Given the description of an element on the screen output the (x, y) to click on. 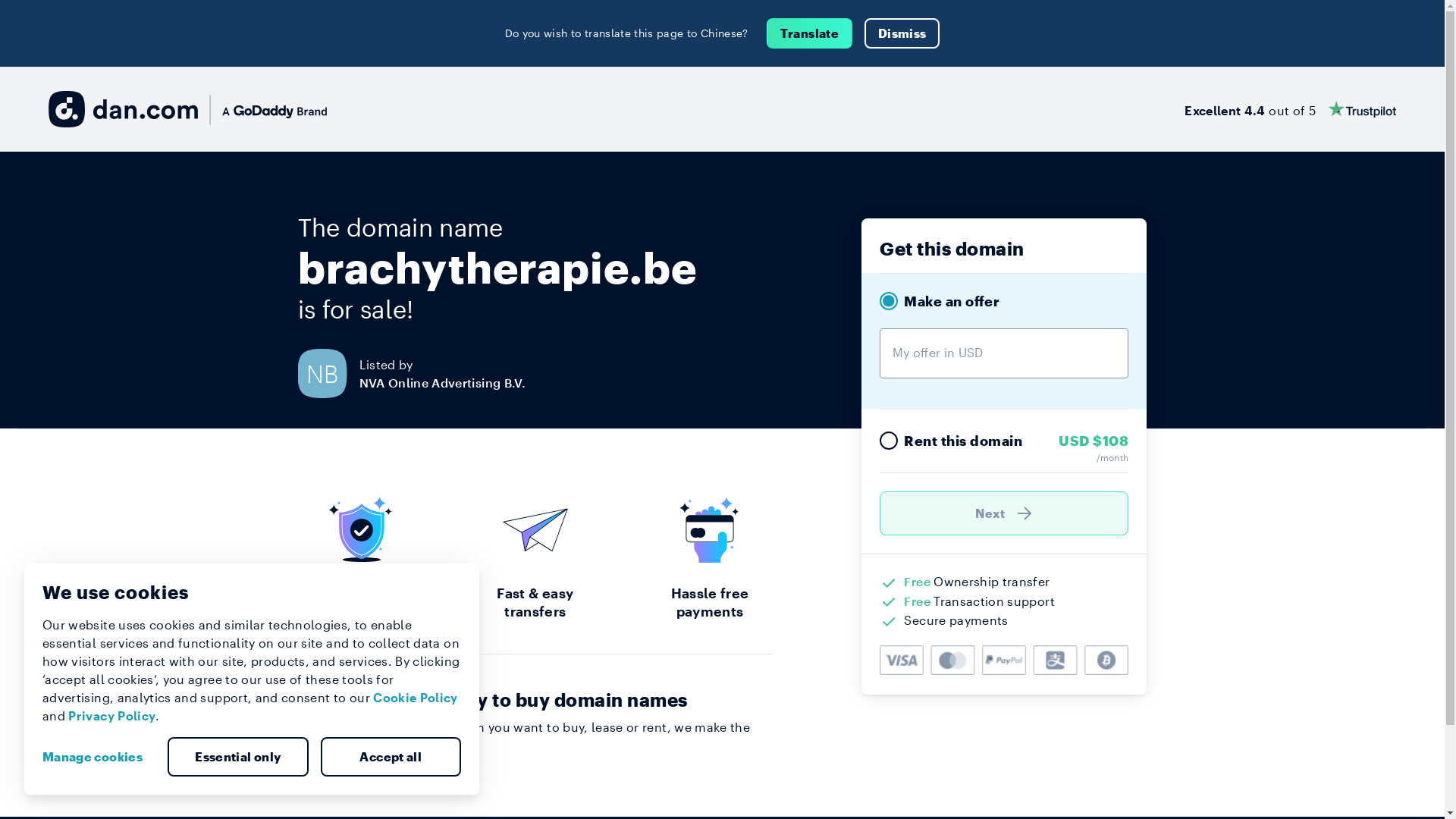
Privacy Policy Element type: text (111, 715)
Translate Element type: text (809, 33)
Excellent 4.4 out of 5 Element type: text (1290, 109)
Essential only Element type: text (237, 756)
Dismiss Element type: text (901, 33)
Accept all Element type: text (390, 756)
Manage cookies Element type: text (98, 756)
Next
) Element type: text (1003, 513)
Cookie Policy Element type: text (415, 697)
